Given the description of an element on the screen output the (x, y) to click on. 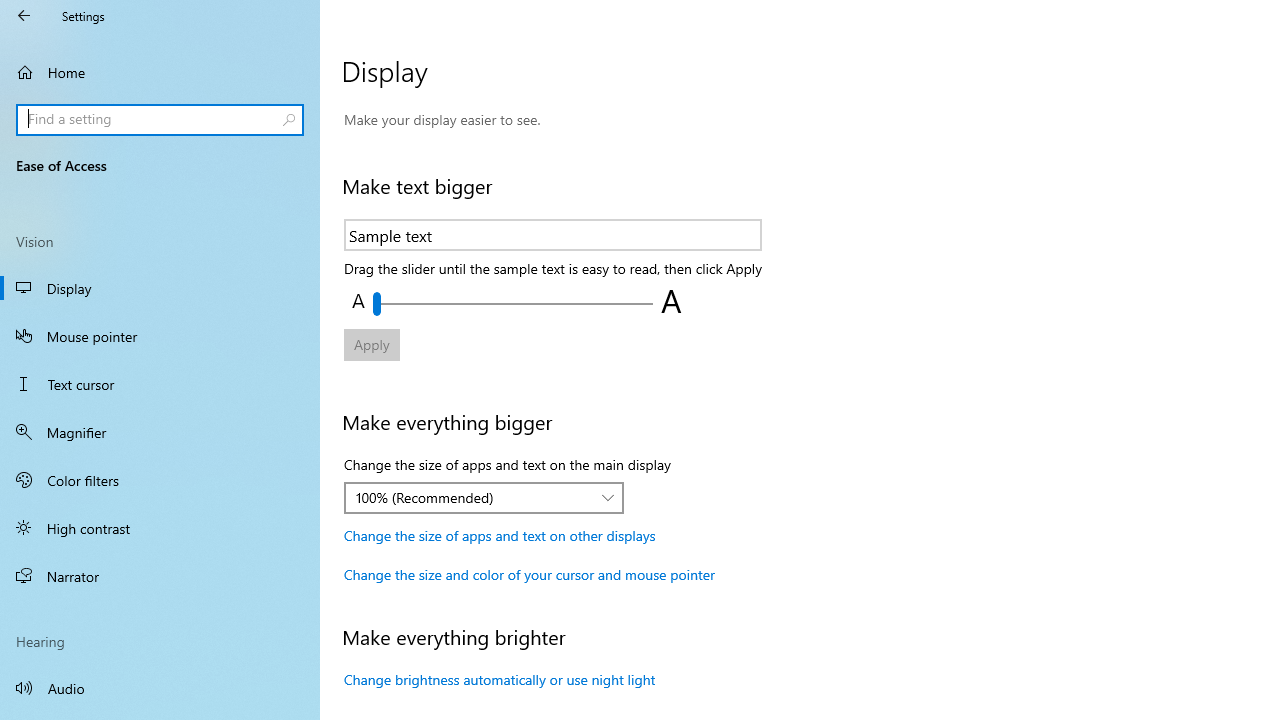
High contrast (160, 527)
Display (160, 287)
Text cursor (160, 384)
Change the size of apps and text on the main display (484, 497)
Audio (160, 687)
Magnifier (160, 431)
Apply (371, 344)
Change the size and color of your cursor and mouse pointer (529, 574)
Search box, Find a setting (160, 119)
Narrator (160, 575)
Change the size of apps and text on other displays (499, 535)
Mouse pointer (160, 335)
Home (160, 71)
100% (Recommended) (473, 497)
